Given the description of an element on the screen output the (x, y) to click on. 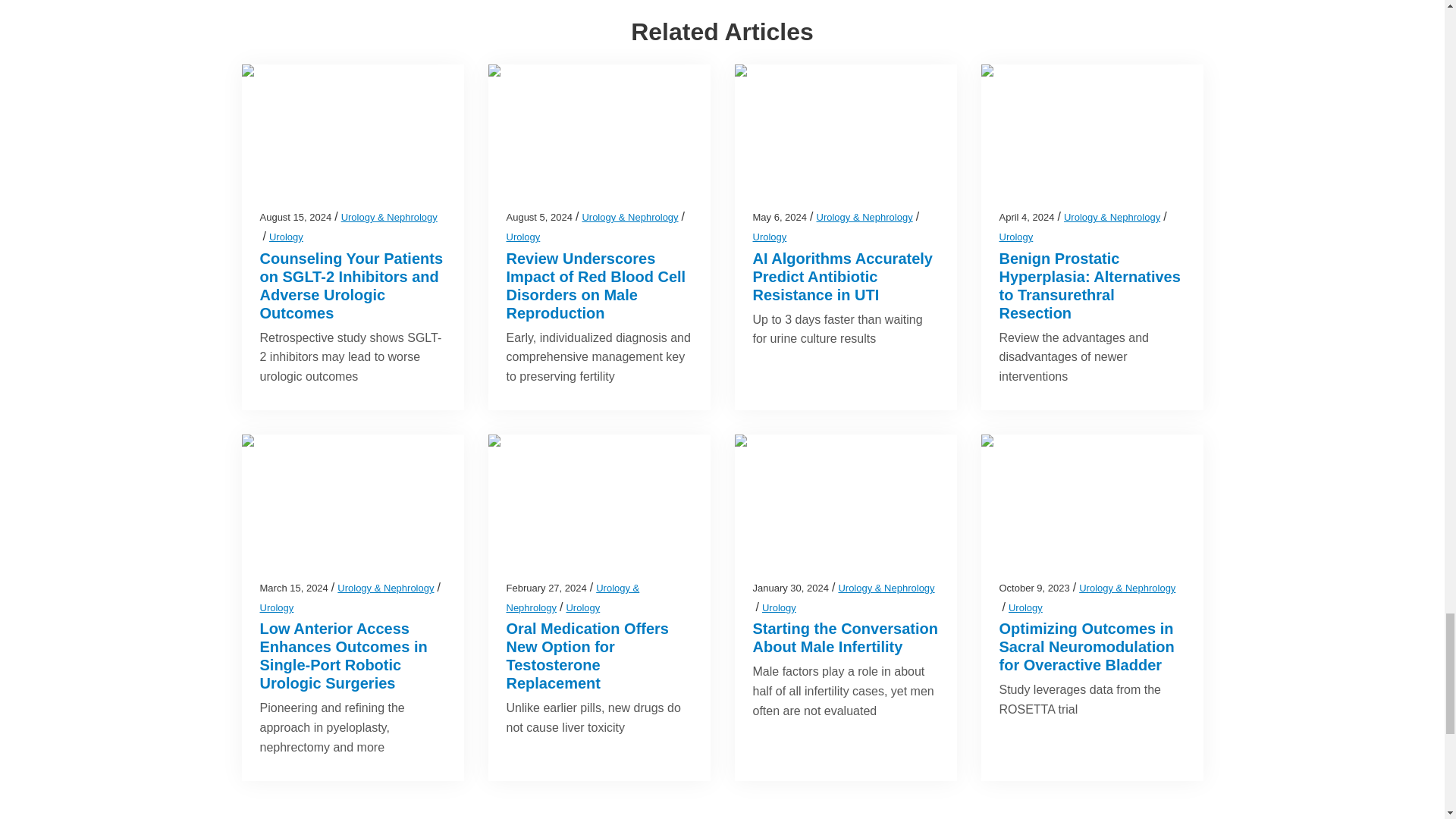
Urology (285, 236)
Urology (523, 236)
